Given the description of an element on the screen output the (x, y) to click on. 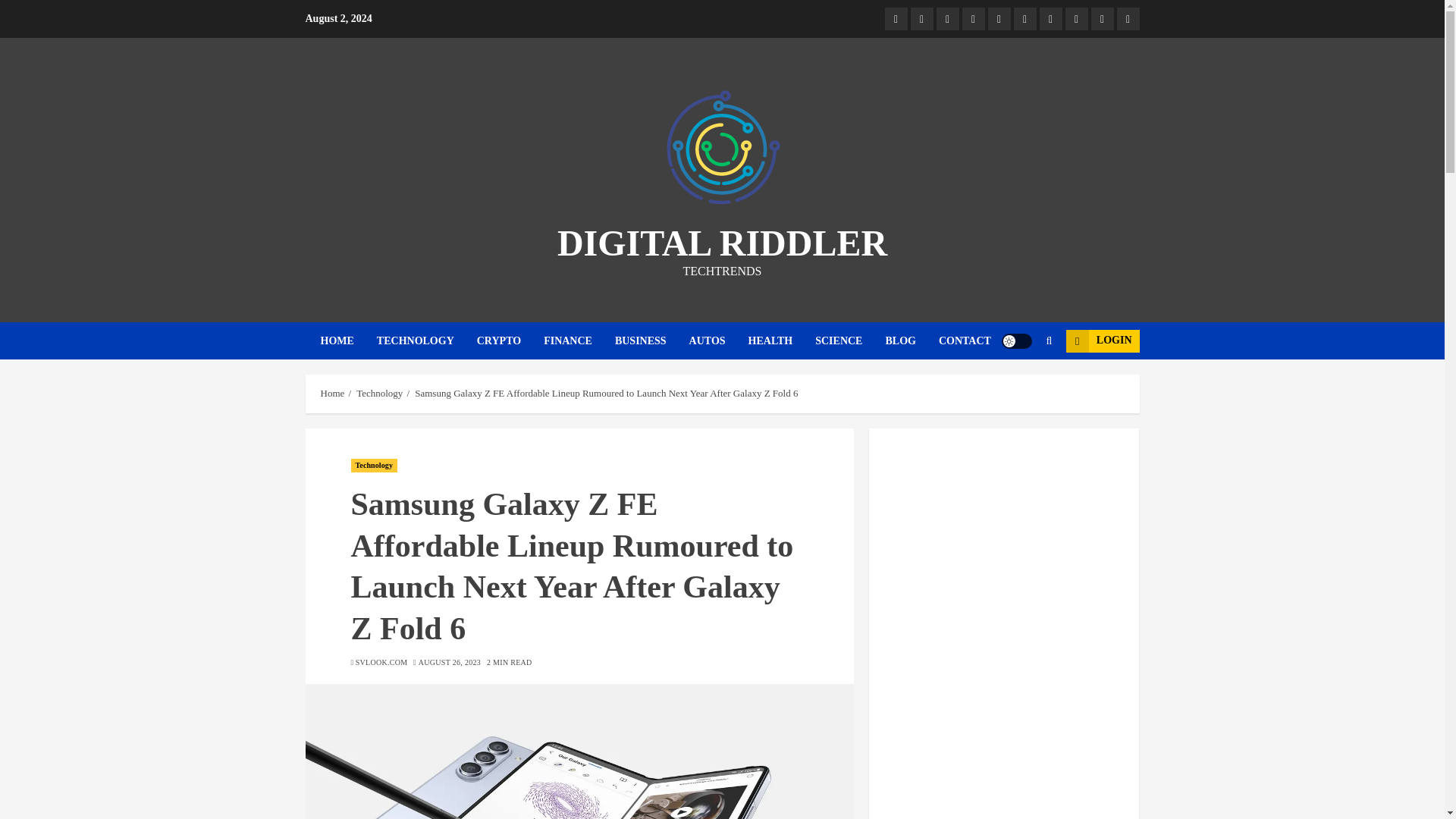
BUSINESS (651, 340)
TECHNOLOGY (427, 340)
SCIENCE (850, 340)
HOME (347, 340)
CRYPTO (510, 340)
FINANCE (578, 340)
AUTOS (718, 340)
HEALTH (781, 340)
DIGITAL RIDDLER (721, 242)
